Given the description of an element on the screen output the (x, y) to click on. 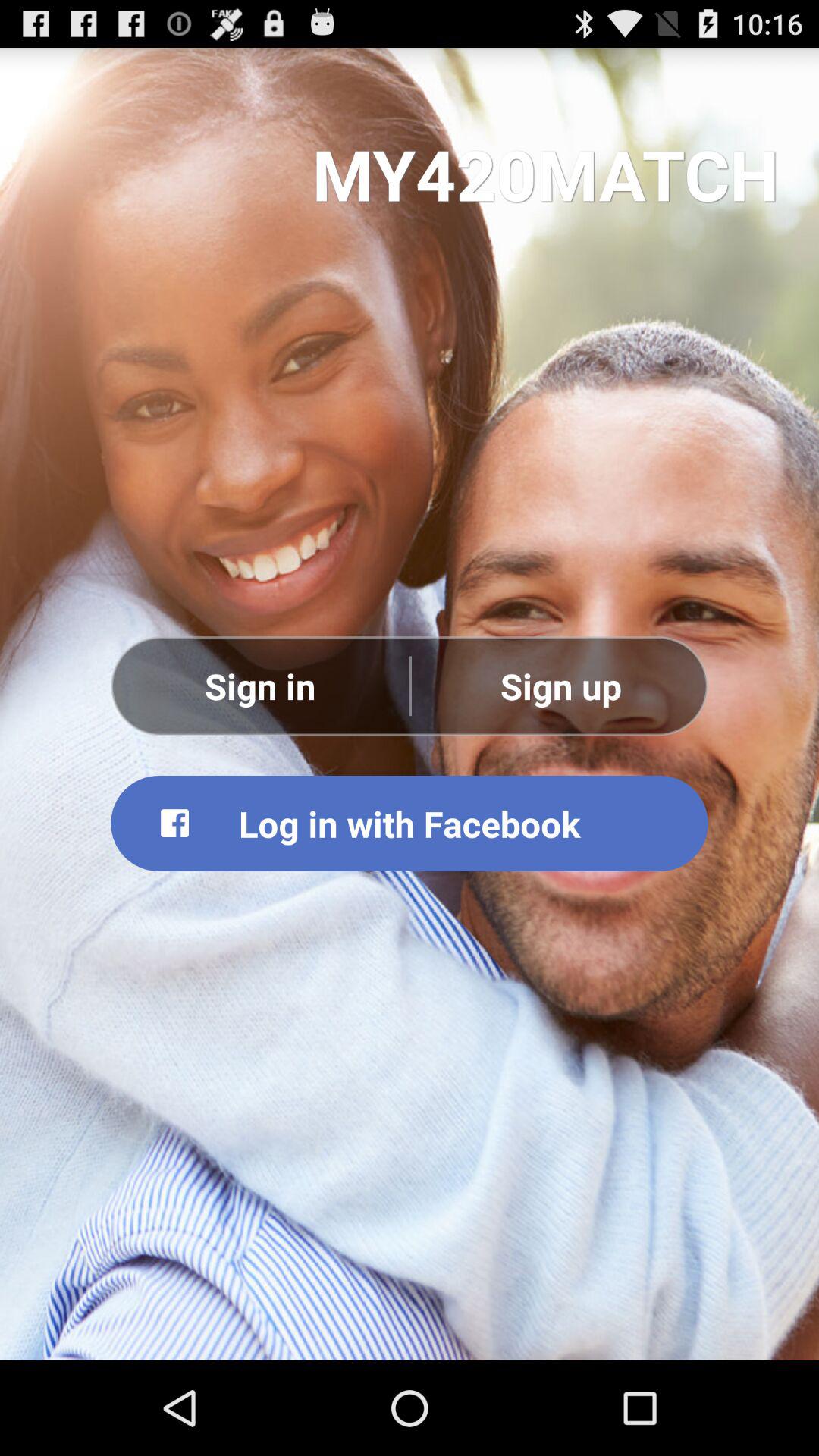
launch log in with item (409, 823)
